Given the description of an element on the screen output the (x, y) to click on. 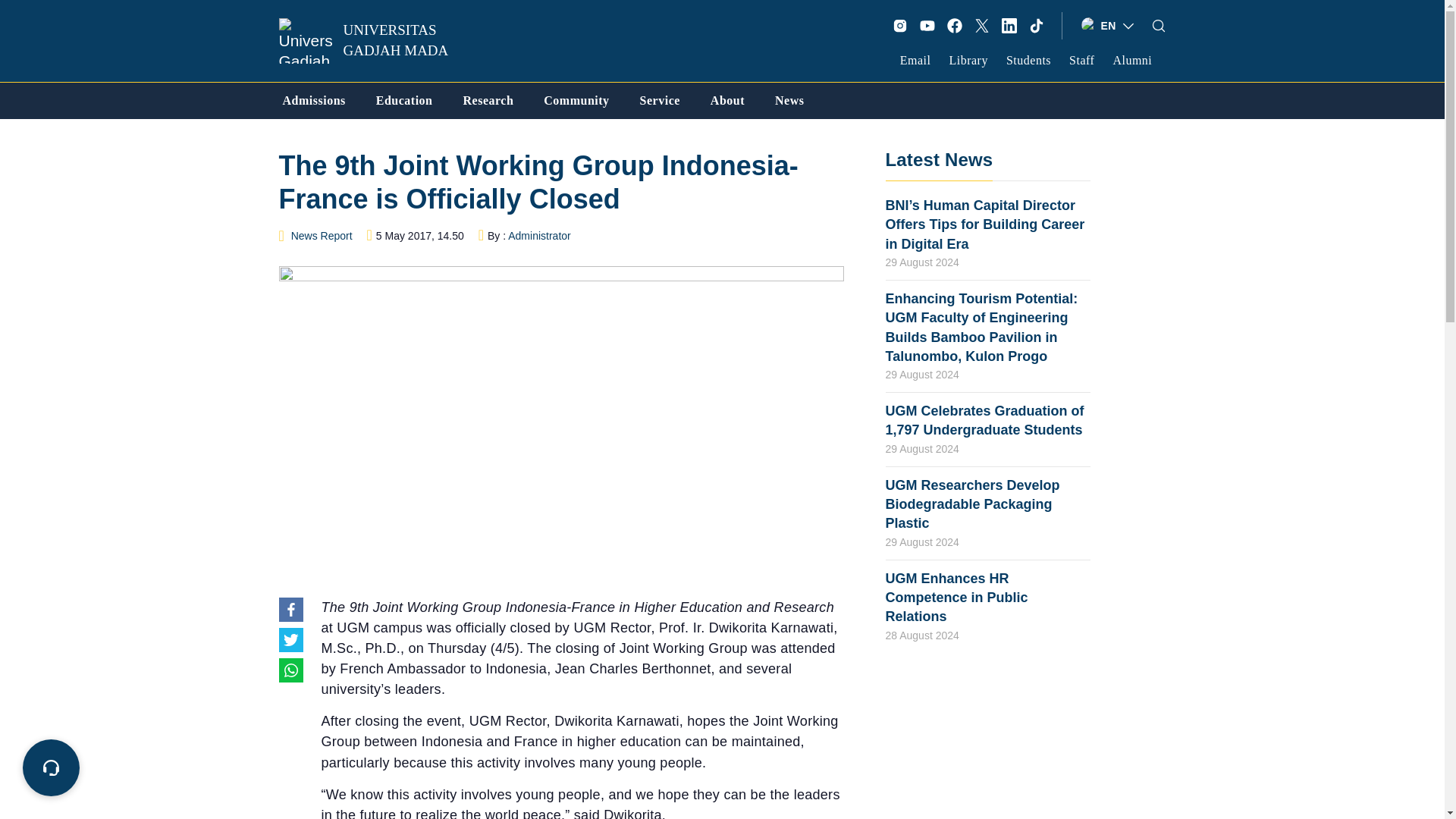
UNIVERSITAS GADJAH MADA (373, 40)
Students (1028, 60)
Alumni (1131, 60)
Posts by Administrator (539, 235)
Admissions (313, 100)
Library (968, 60)
Staff (1081, 60)
Education (403, 100)
Email (915, 60)
EN (1108, 25)
